Given the description of an element on the screen output the (x, y) to click on. 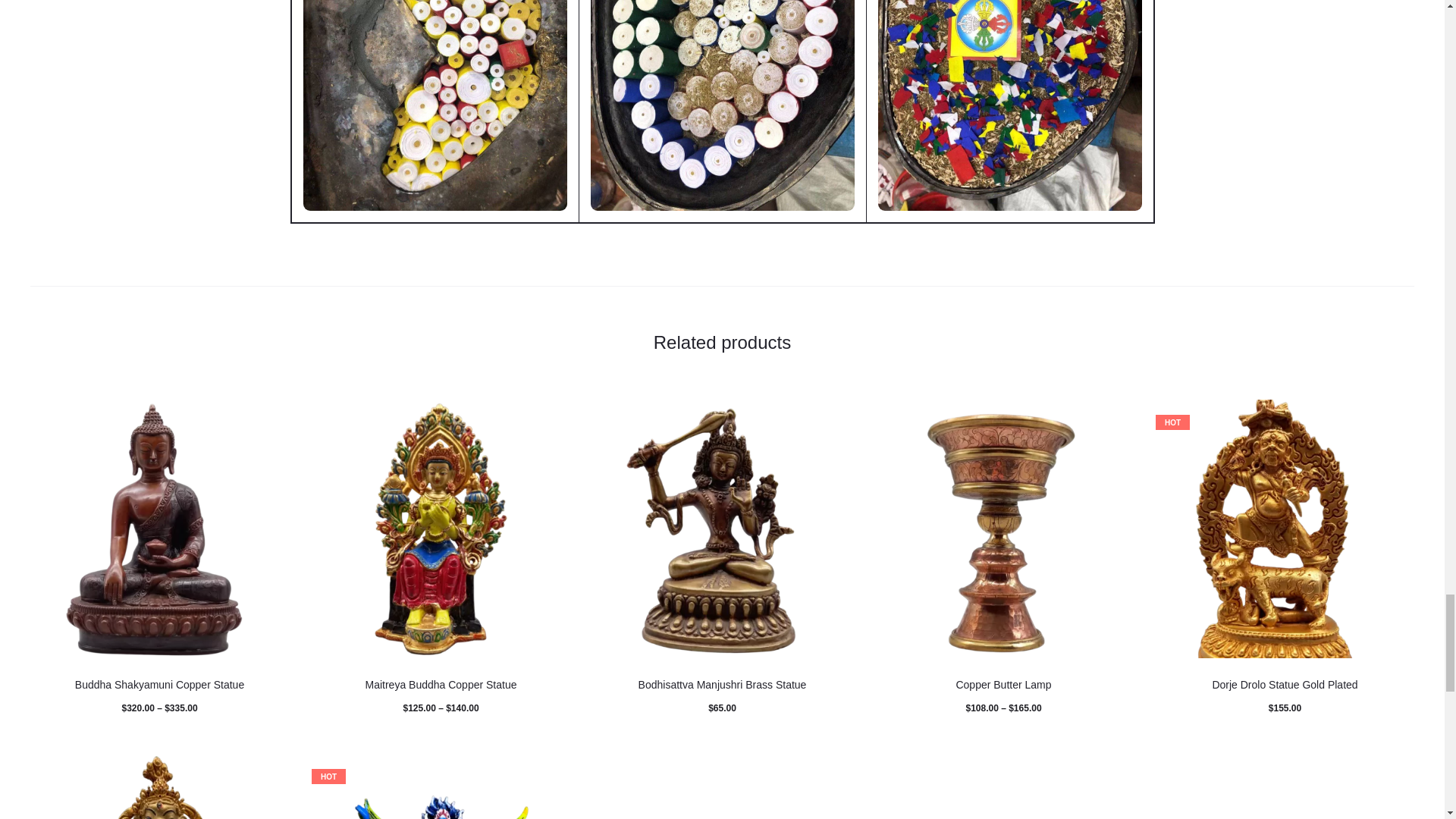
2883437769 Rudraxis (1003, 528)
2893289139 Rudraxis (721, 528)
2621861431 Rudraxis (159, 528)
